Given the description of an element on the screen output the (x, y) to click on. 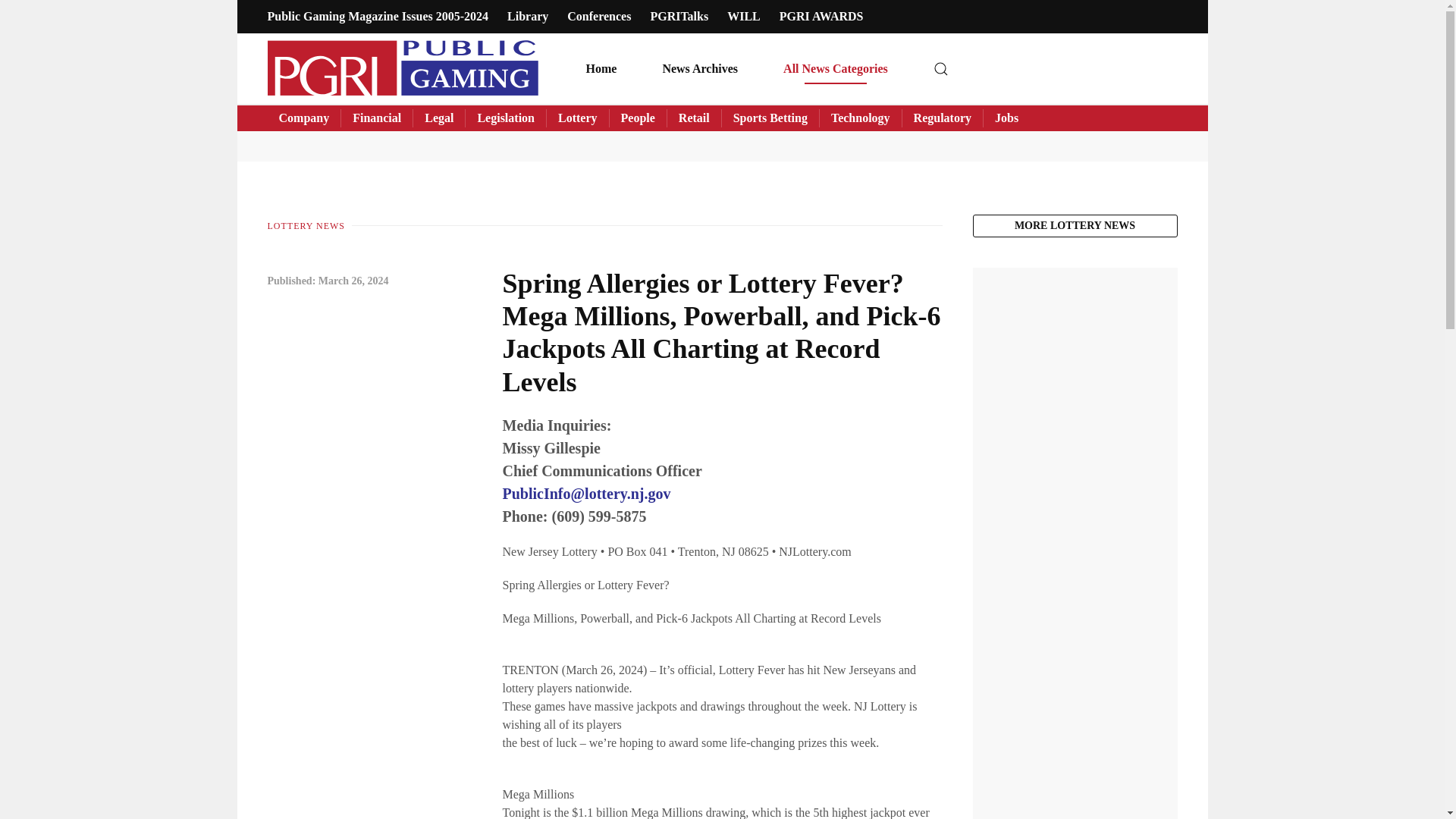
Conferences (598, 16)
All News Categories (835, 67)
Browse all Lottery news (1074, 225)
Public Gaming Magazine Issues 2005-2024 (376, 16)
PGRITalks (678, 16)
Library (527, 16)
News Archives (700, 67)
WILL (743, 16)
PGRI AWARDS (820, 16)
